Given the description of an element on the screen output the (x, y) to click on. 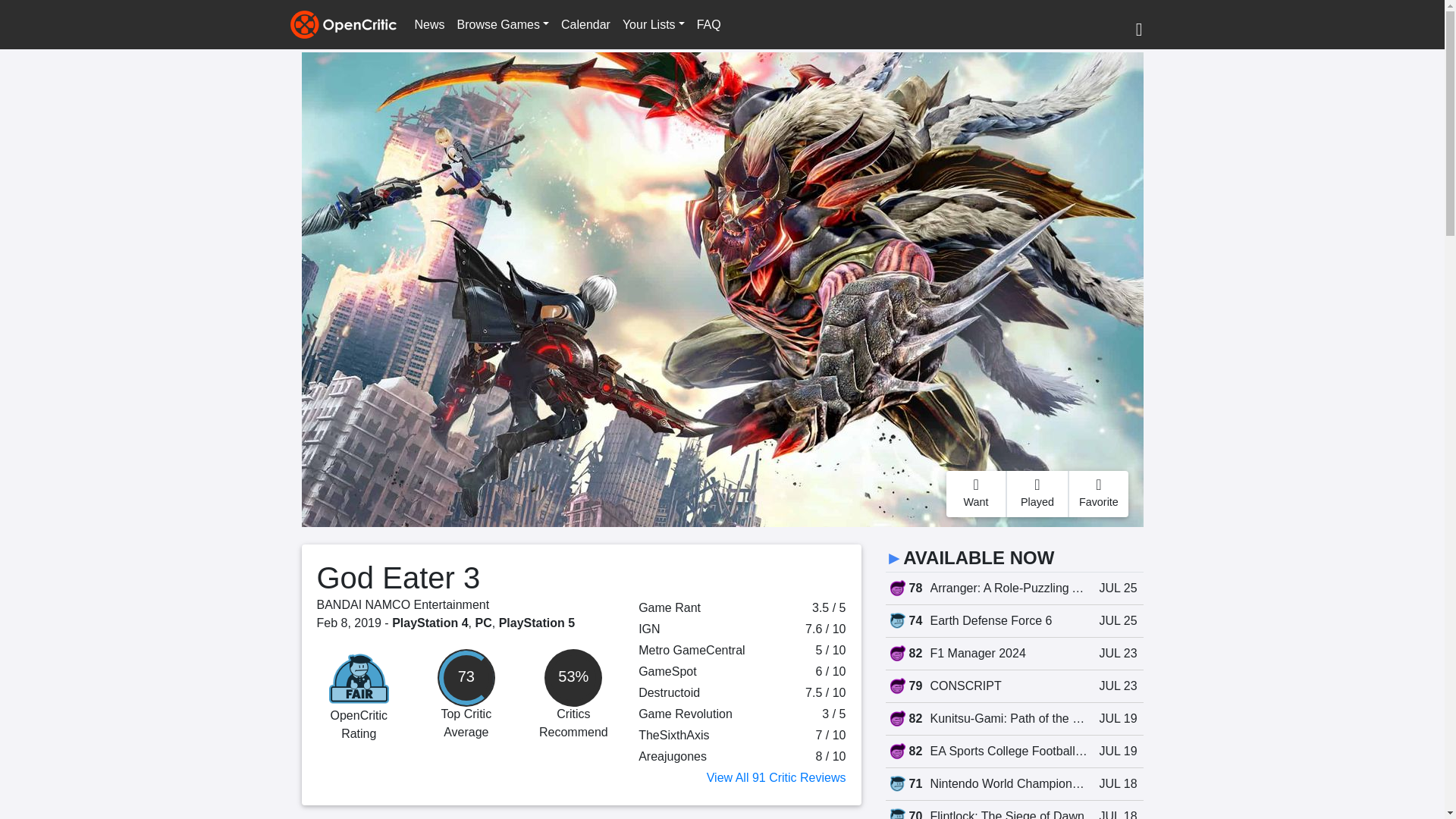
Your Lists (652, 24)
Calendar (584, 24)
Browse Games (502, 24)
View All 91 Critic Reviews (775, 777)
FAQ (708, 24)
News (428, 24)
